Given the description of an element on the screen output the (x, y) to click on. 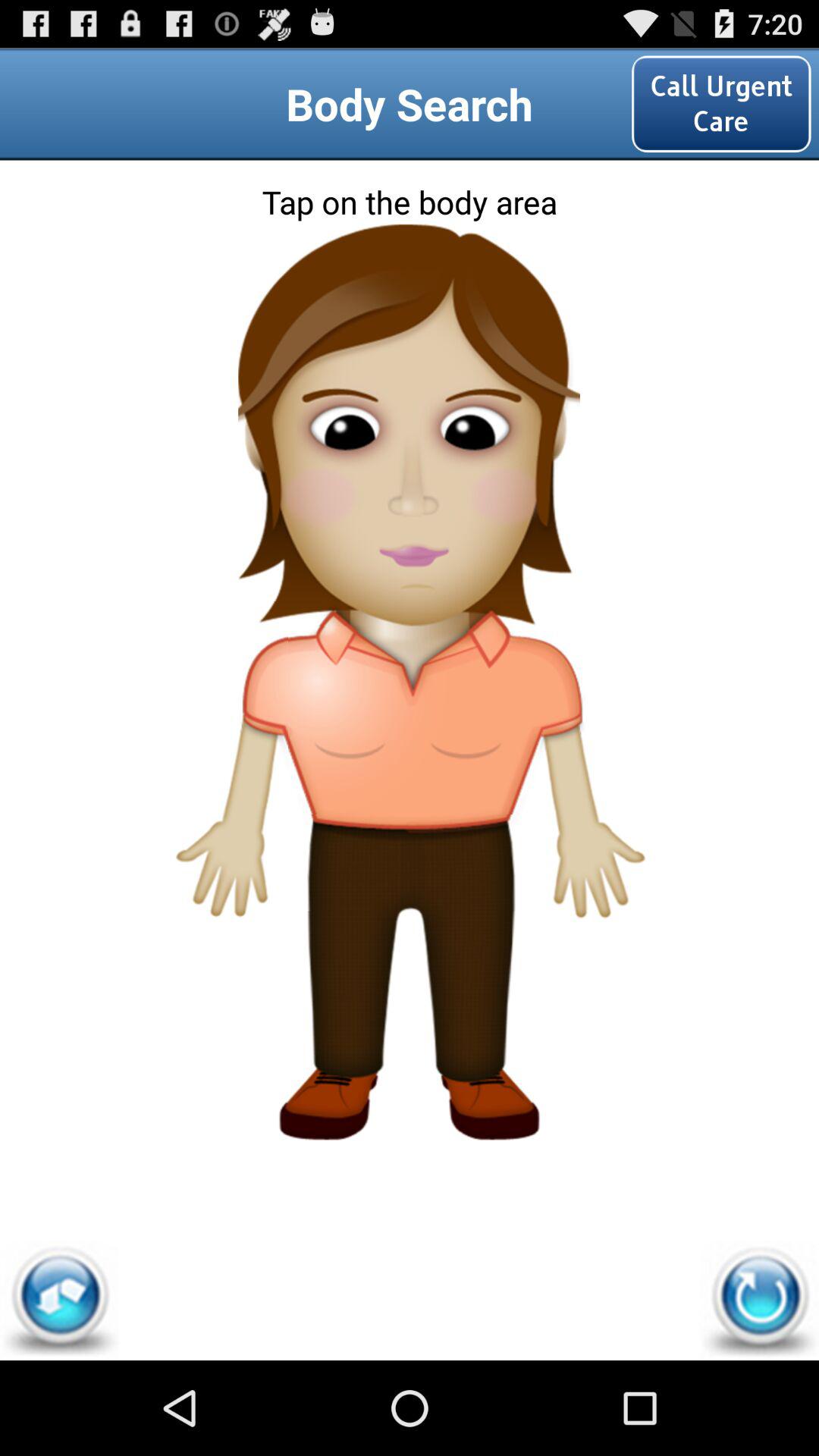
click the icon above tap on the (721, 103)
